Given the description of an element on the screen output the (x, y) to click on. 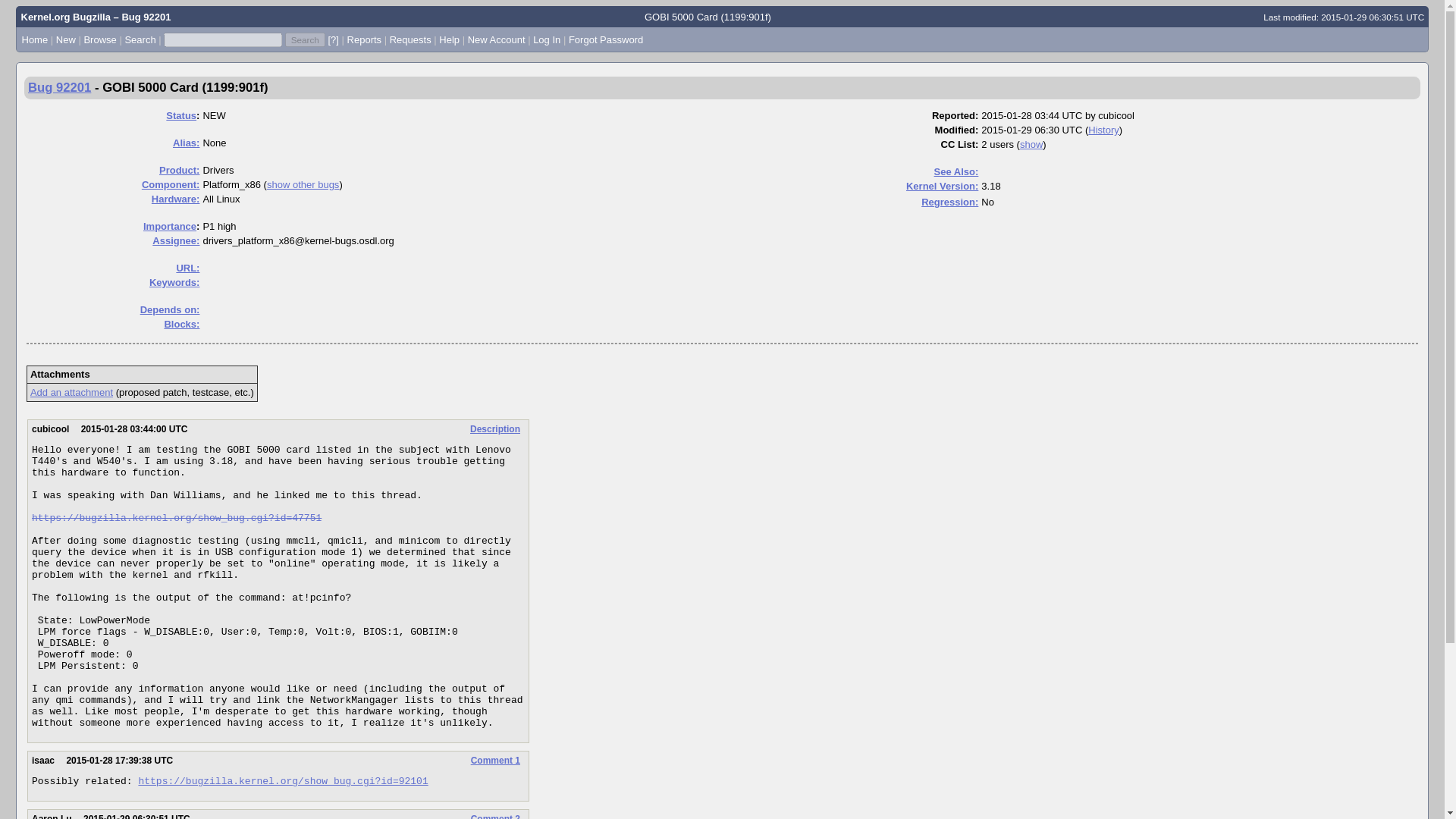
Reports (364, 39)
Home (34, 39)
Depends on: (169, 309)
The person in charge of resolving the bug. (175, 240)
Product: (178, 170)
Browse (99, 39)
Alias: (186, 142)
Bugs are categorised into Products and Components. (178, 170)
